Given the description of an element on the screen output the (x, y) to click on. 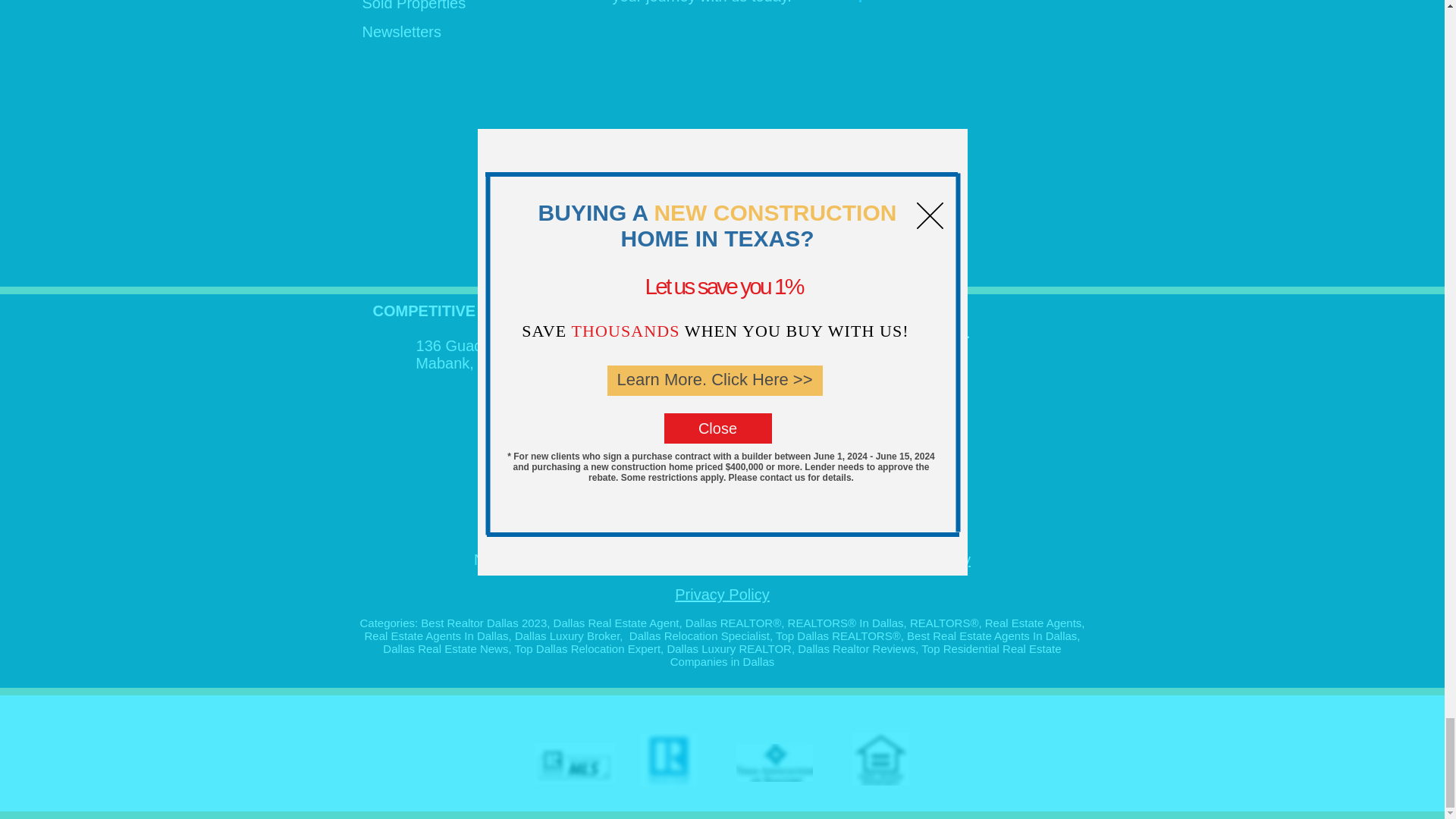
Embedded Content (1021, 151)
